Given the description of an element on the screen output the (x, y) to click on. 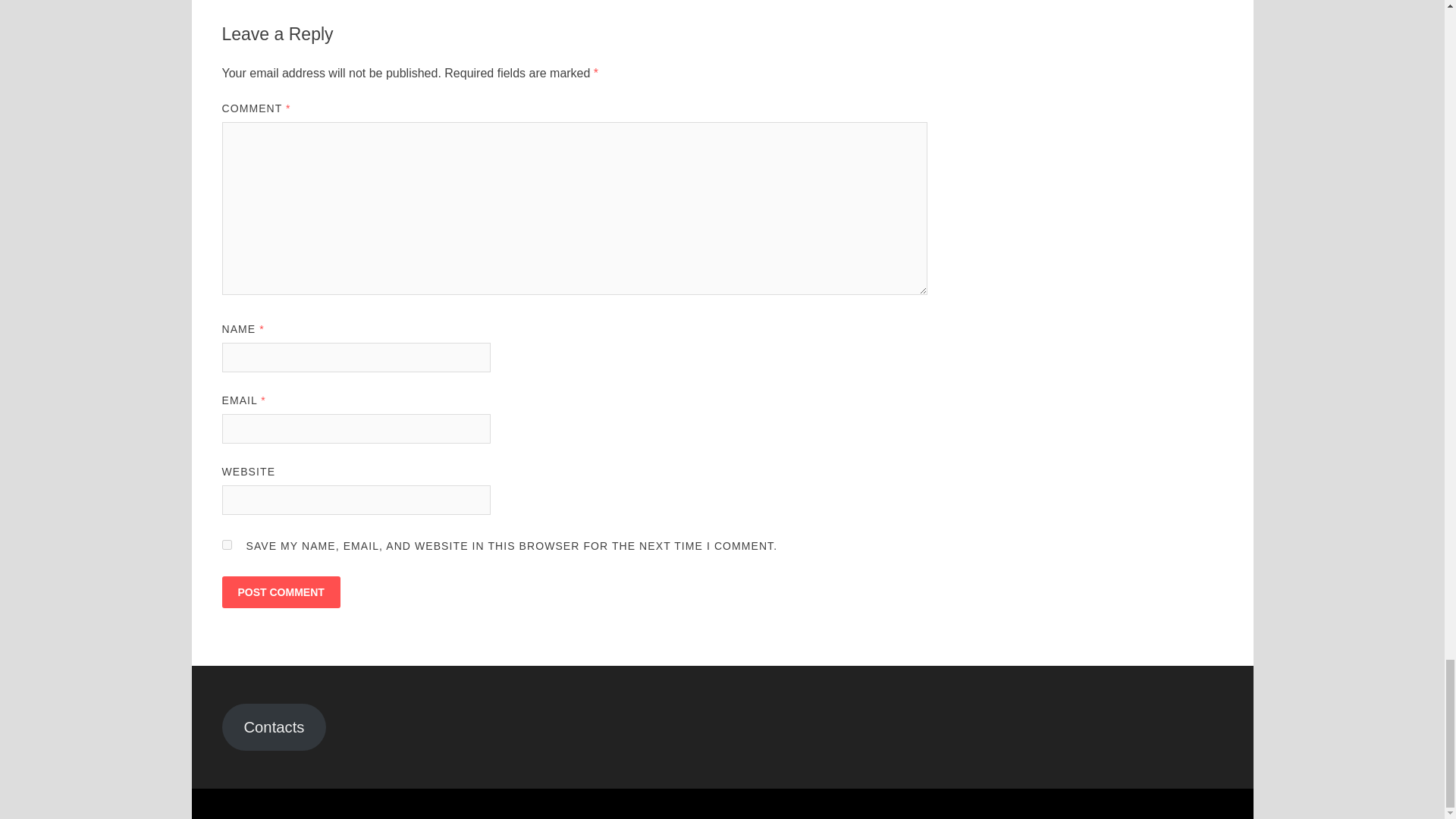
yes (226, 544)
Post Comment (280, 592)
Post Comment (280, 592)
